Given the description of an element on the screen output the (x, y) to click on. 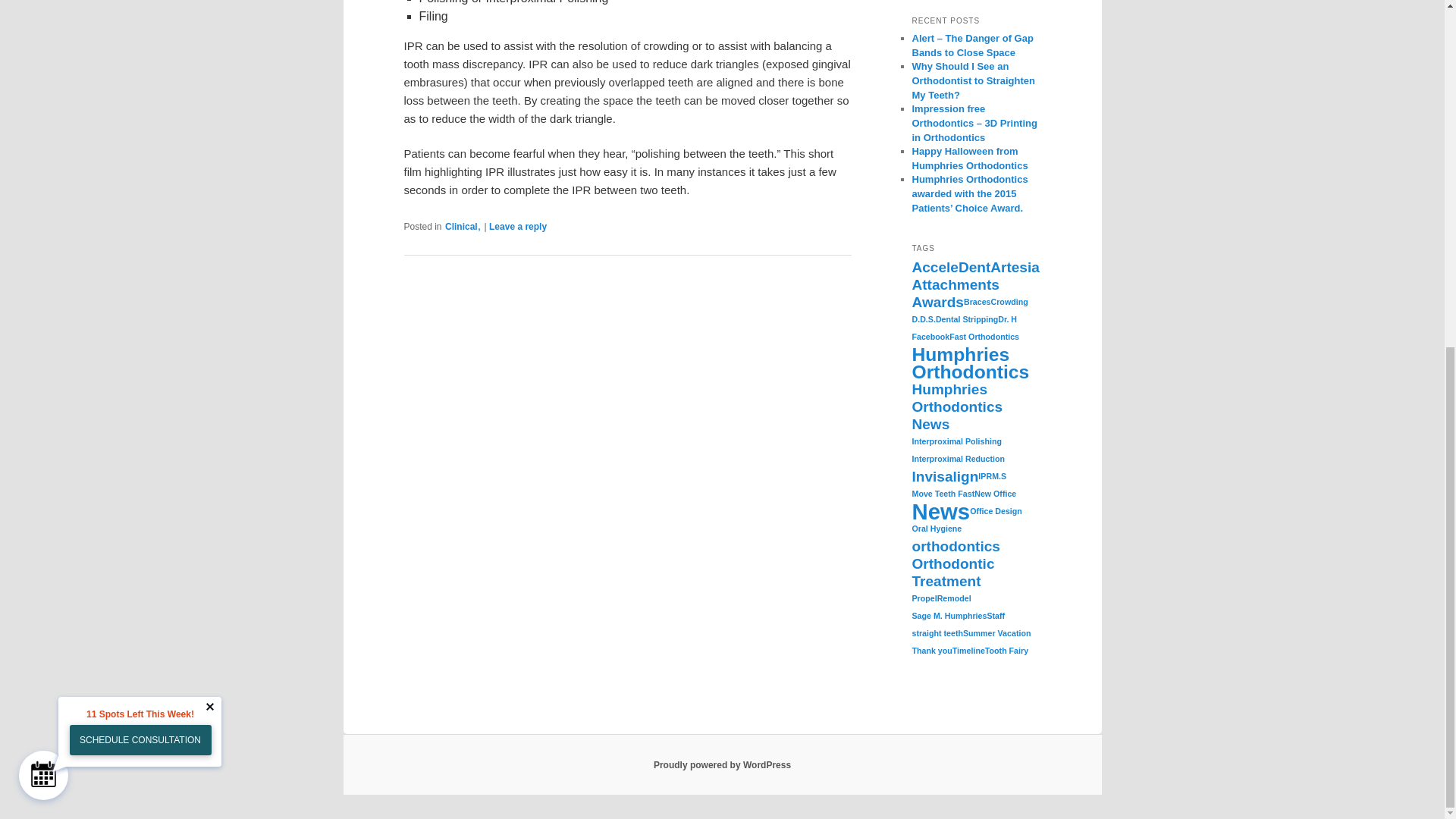
SCHEDULE CONSULTATION (140, 142)
calendar (43, 177)
Semantic Personal Publishing Platform (721, 765)
Clinical (461, 226)
Leave a reply (518, 226)
Why Should I See an Orthodontist to Straighten My Teeth? (972, 80)
calendar (43, 176)
